Given the description of an element on the screen output the (x, y) to click on. 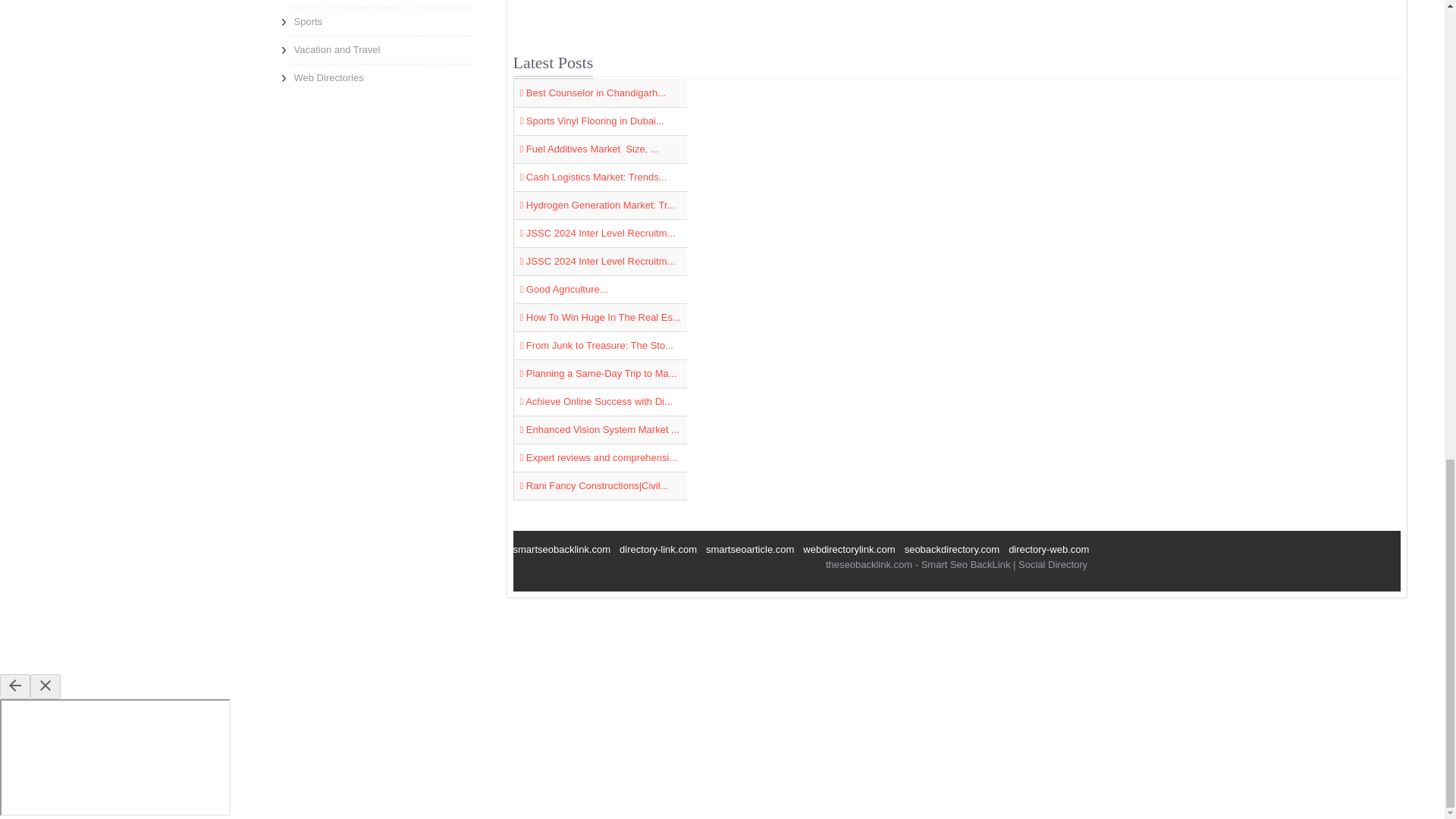
Vacation and Travel (381, 49)
Society (381, 3)
Sports (381, 22)
Web Directories (381, 77)
